Given the description of an element on the screen output the (x, y) to click on. 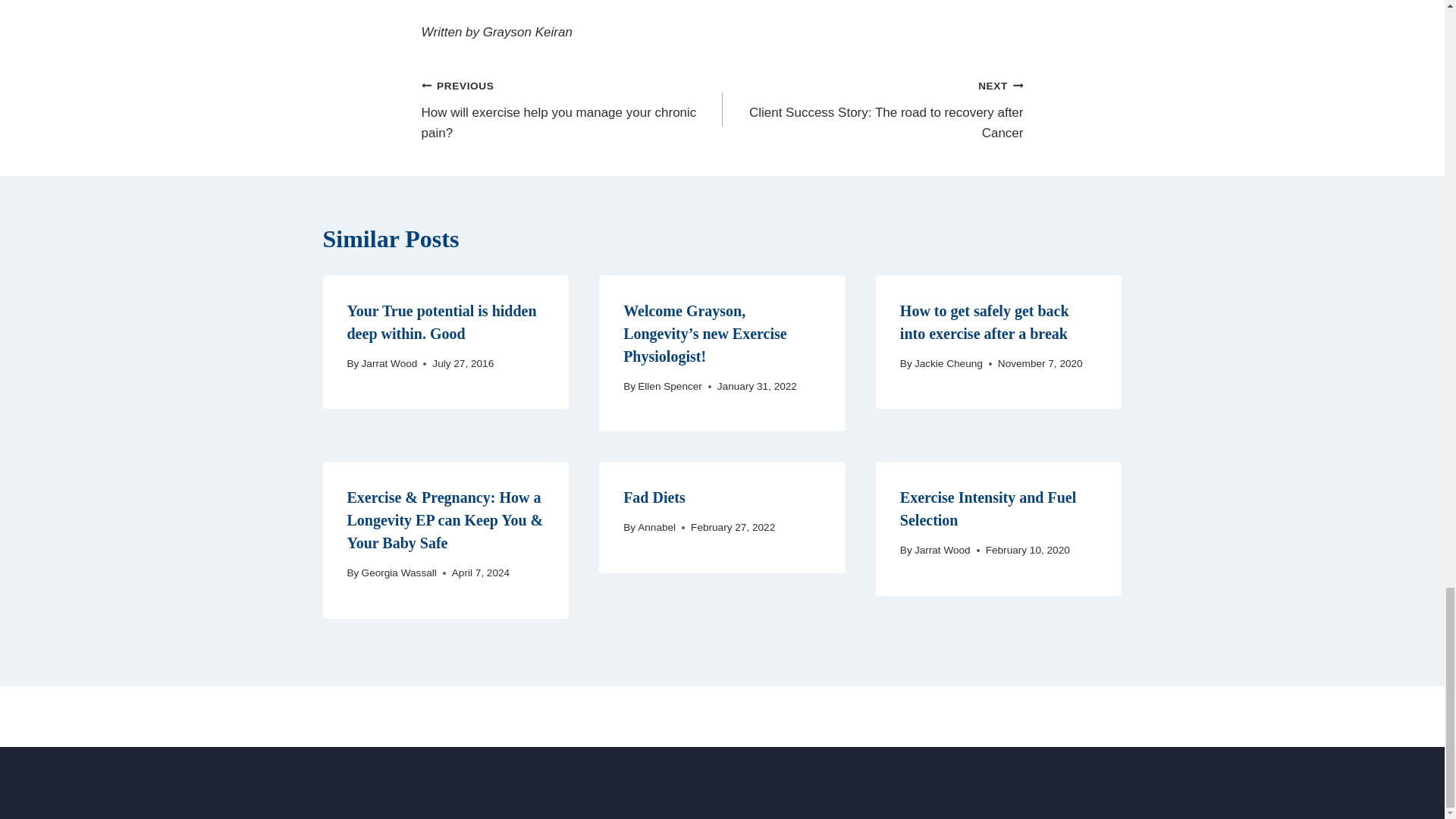
Your True potential is hidden deep within. Good (872, 109)
Jarrat Wood (442, 322)
How to get safely get back into exercise after a break (389, 363)
Jackie Cheung (983, 322)
Ellen Spencer (948, 363)
